Given the description of an element on the screen output the (x, y) to click on. 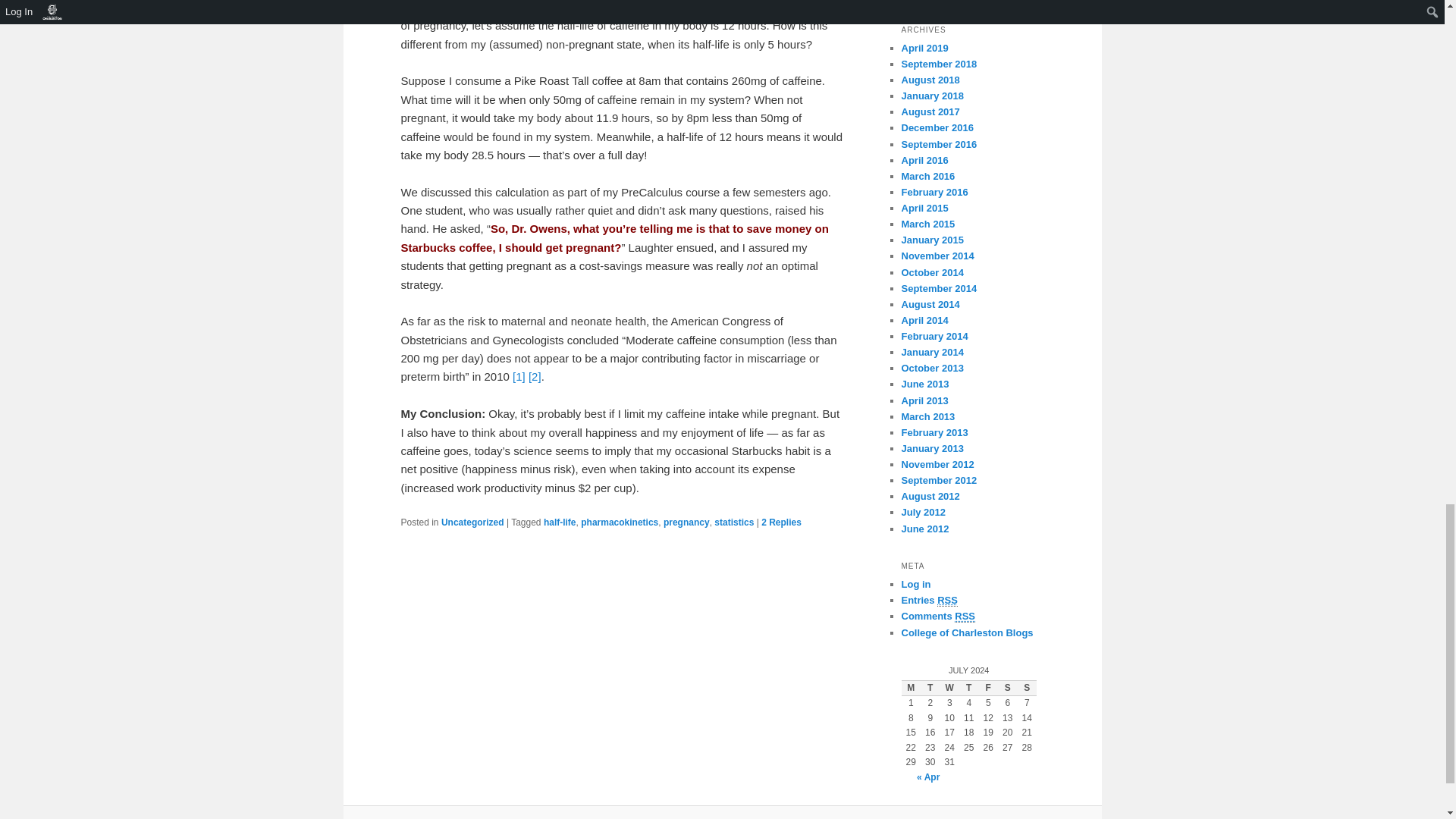
statistics (734, 521)
Really Simple Syndication (947, 600)
Powered by College of Charleston Blogs (966, 632)
Monday (910, 688)
Really Simple Syndication (965, 616)
Thursday (968, 688)
Sunday (1026, 688)
Wednesday (949, 688)
Uncategorized (472, 521)
Saturday (1007, 688)
Friday (987, 688)
pregnancy (686, 521)
pharmacokinetics (619, 521)
Tuesday (930, 688)
The latest comments to all posts in RSS (938, 616)
